Given the description of an element on the screen output the (x, y) to click on. 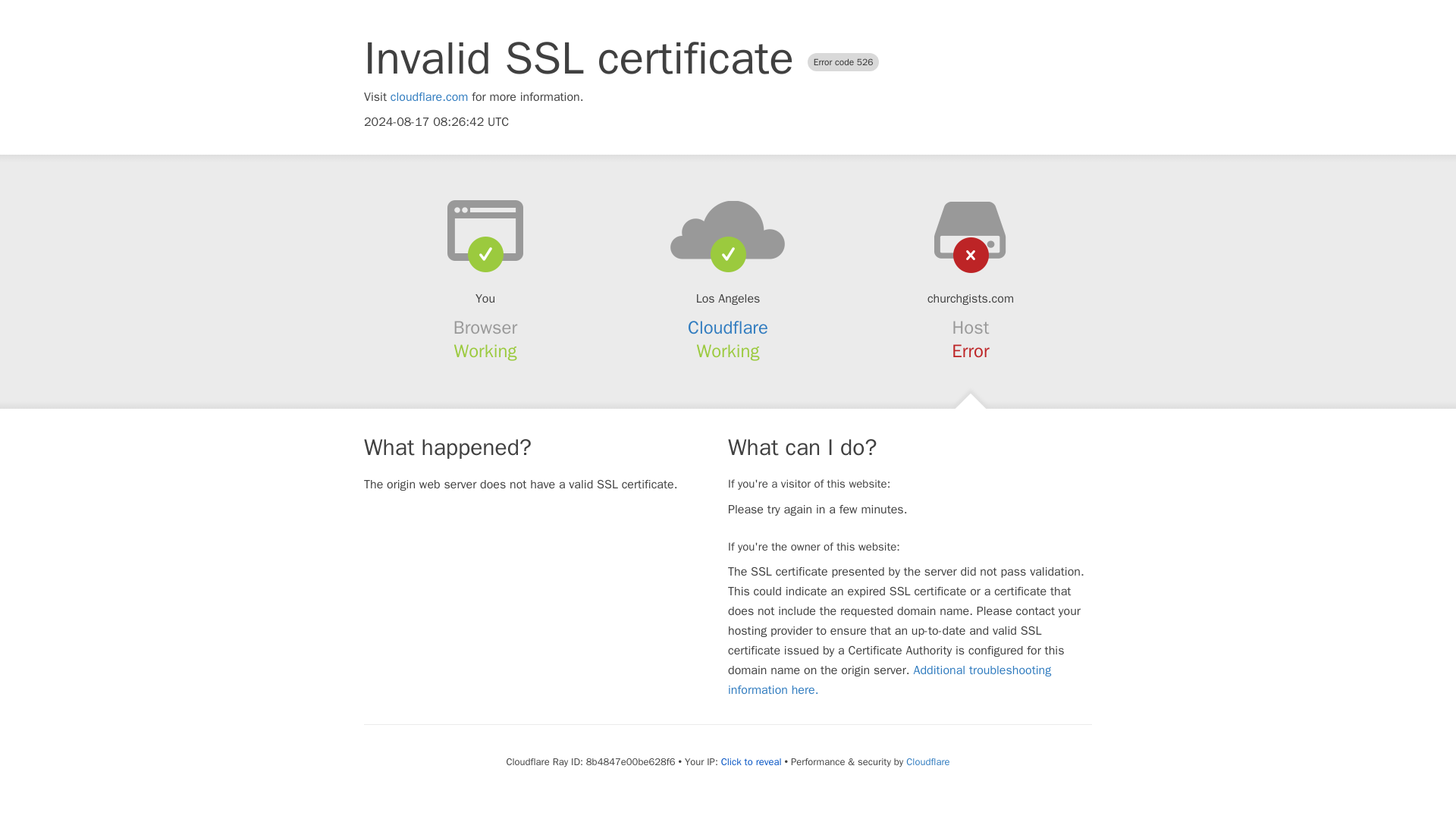
Click to reveal (750, 762)
cloudflare.com (429, 96)
Cloudflare (927, 761)
Additional troubleshooting information here. (889, 679)
Cloudflare (727, 327)
